Given the description of an element on the screen output the (x, y) to click on. 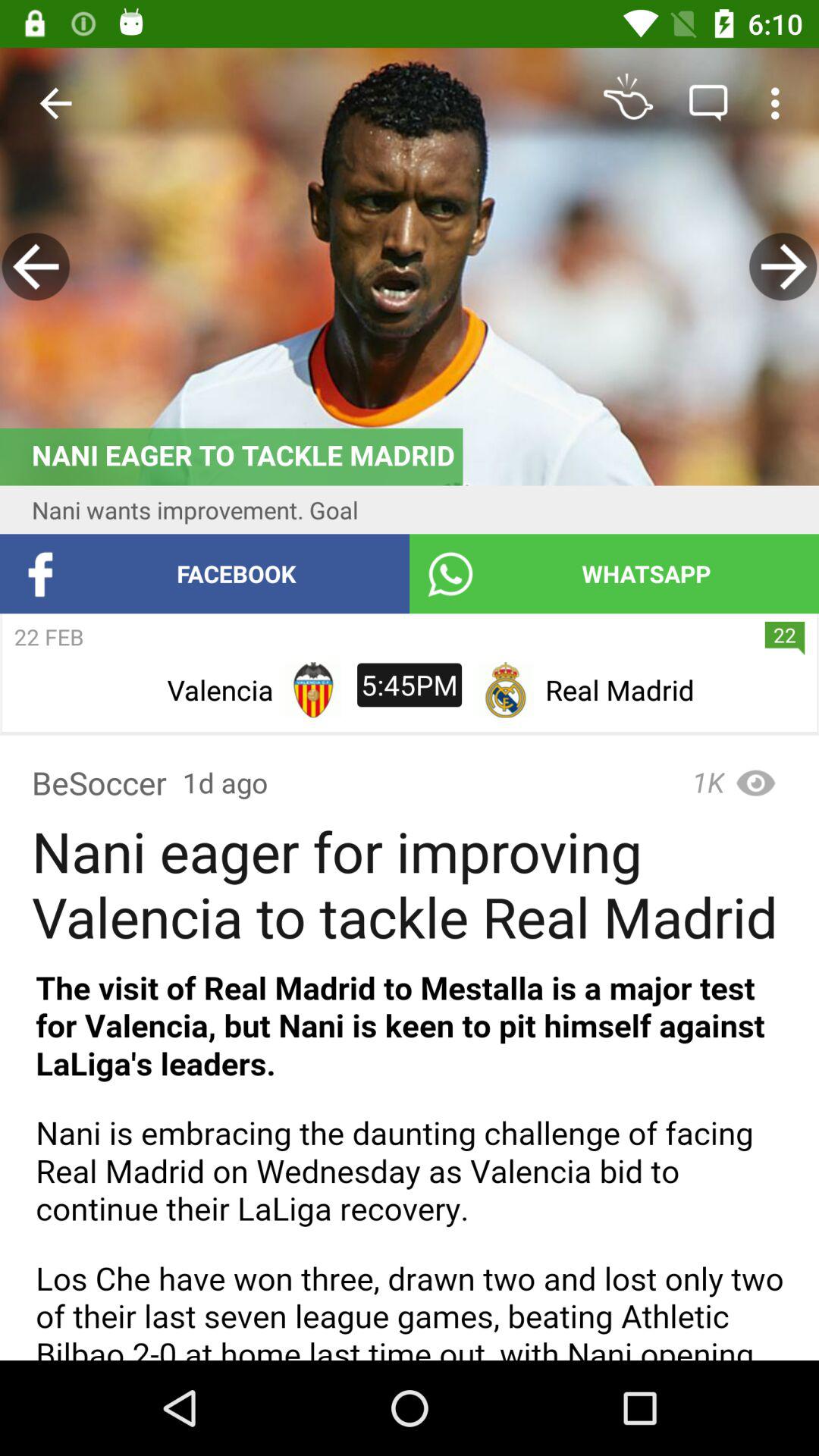
advertisement (409, 266)
